Given the description of an element on the screen output the (x, y) to click on. 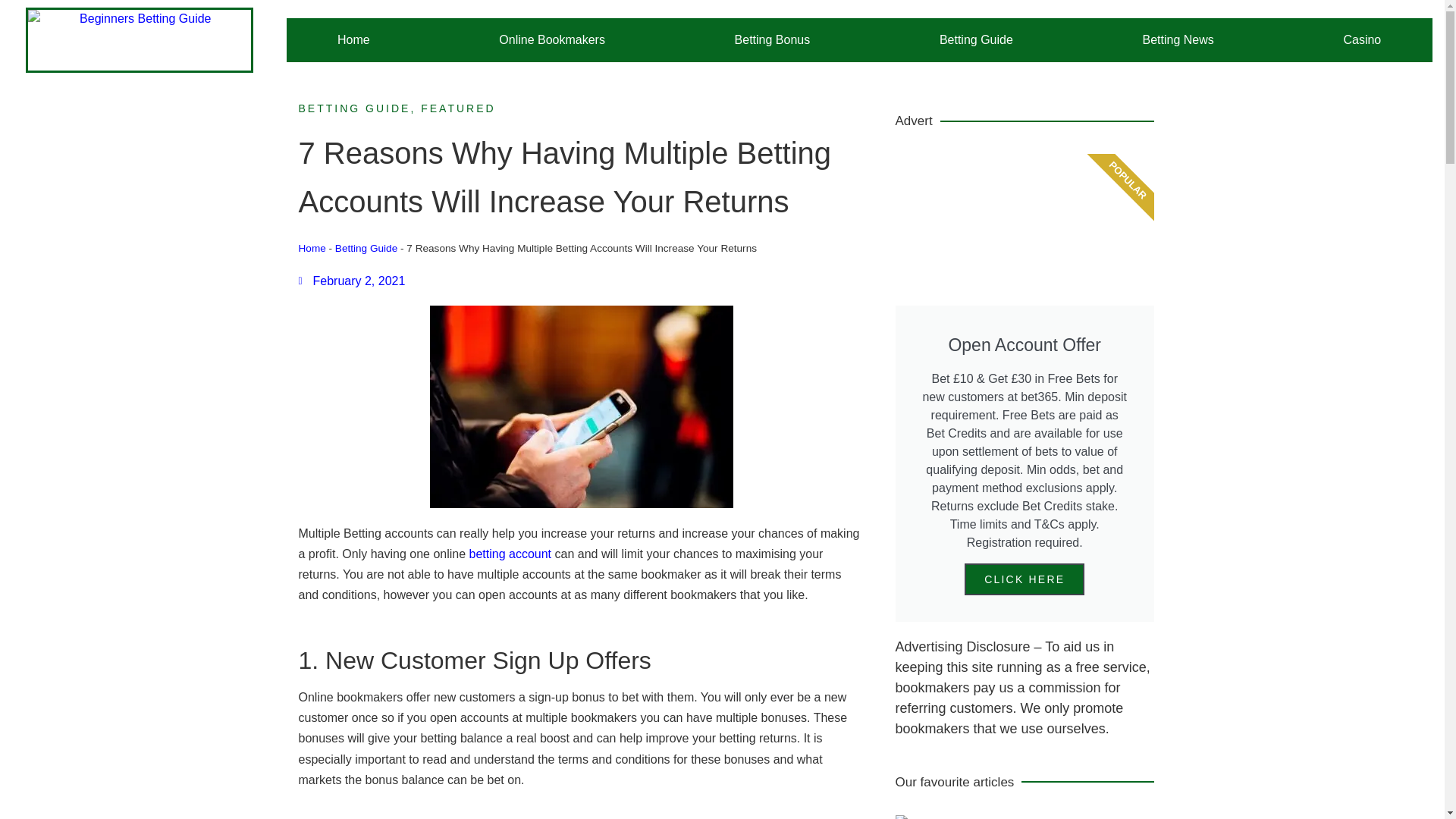
FEATURED (457, 108)
Betting Guide (976, 40)
Home (312, 247)
Betting Bonus (771, 40)
February 2, 2021 (352, 280)
BETTING GUIDE (354, 108)
betting account (509, 553)
Betting Guide (365, 247)
Home (353, 40)
Online Bookmakers (552, 40)
Betting News (1177, 40)
Casino (1361, 40)
